Given the description of an element on the screen output the (x, y) to click on. 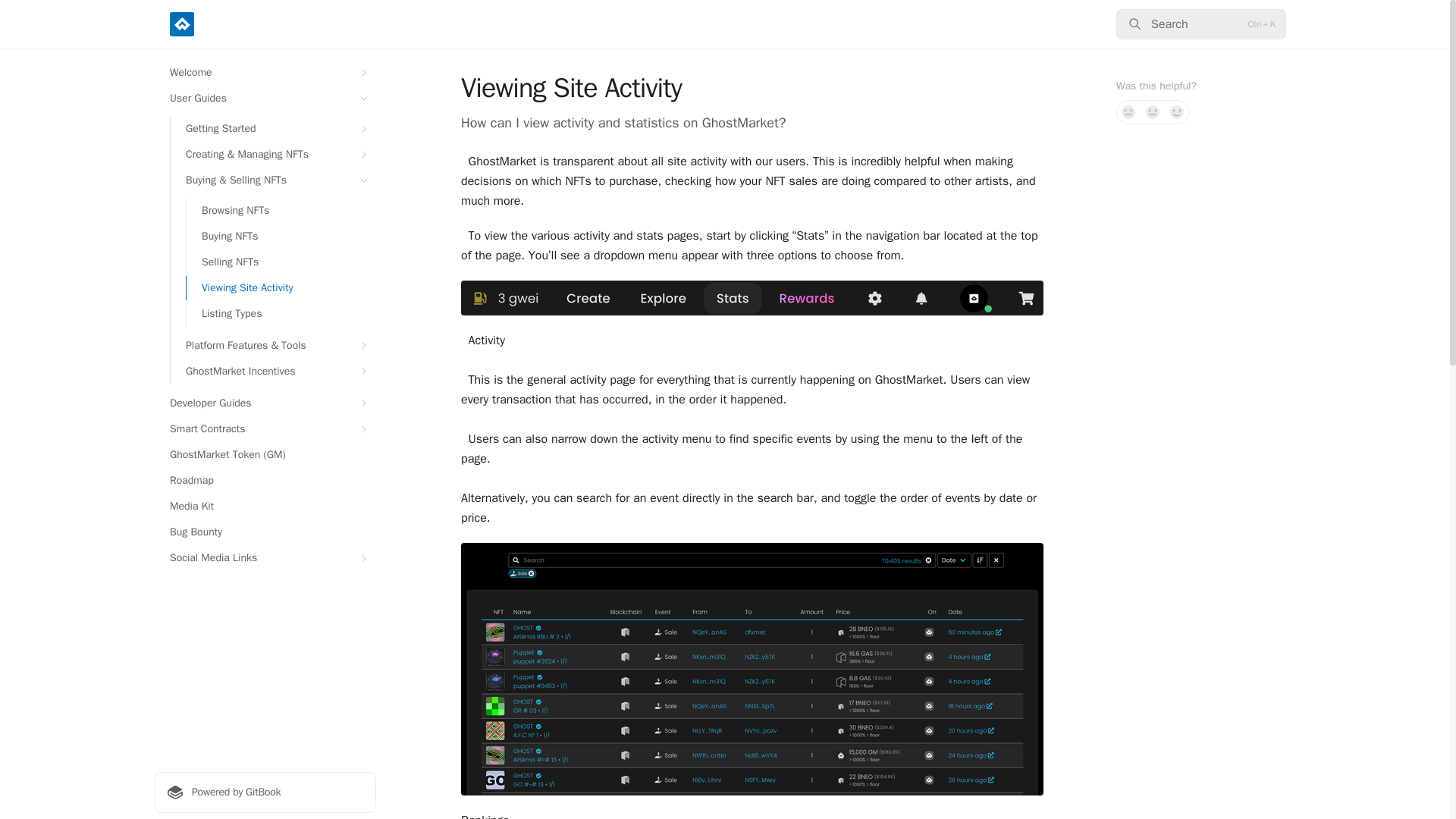
Listing Types (280, 313)
Browsing NFTs (280, 210)
Yes, it was! (1176, 111)
User Guides (264, 98)
Selling NFTs (280, 262)
No (1128, 111)
Buying NFTs (280, 236)
Welcome (264, 72)
GhostMarket Incentives (272, 371)
Viewing Site Activity (280, 288)
Getting Started (272, 128)
Not sure (1152, 111)
